Given the description of an element on the screen output the (x, y) to click on. 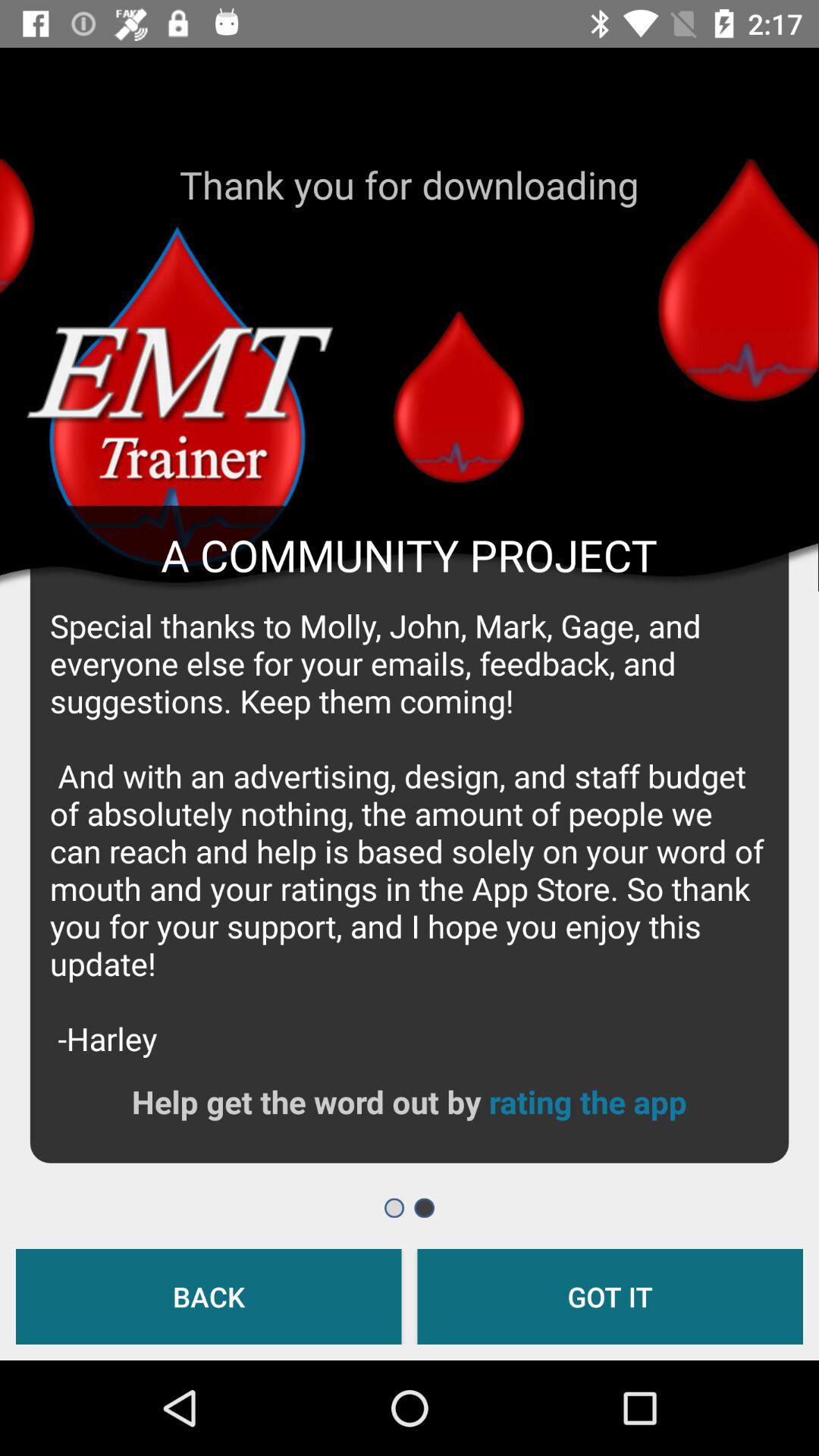
tap the item to the right of the back (610, 1296)
